Given the description of an element on the screen output the (x, y) to click on. 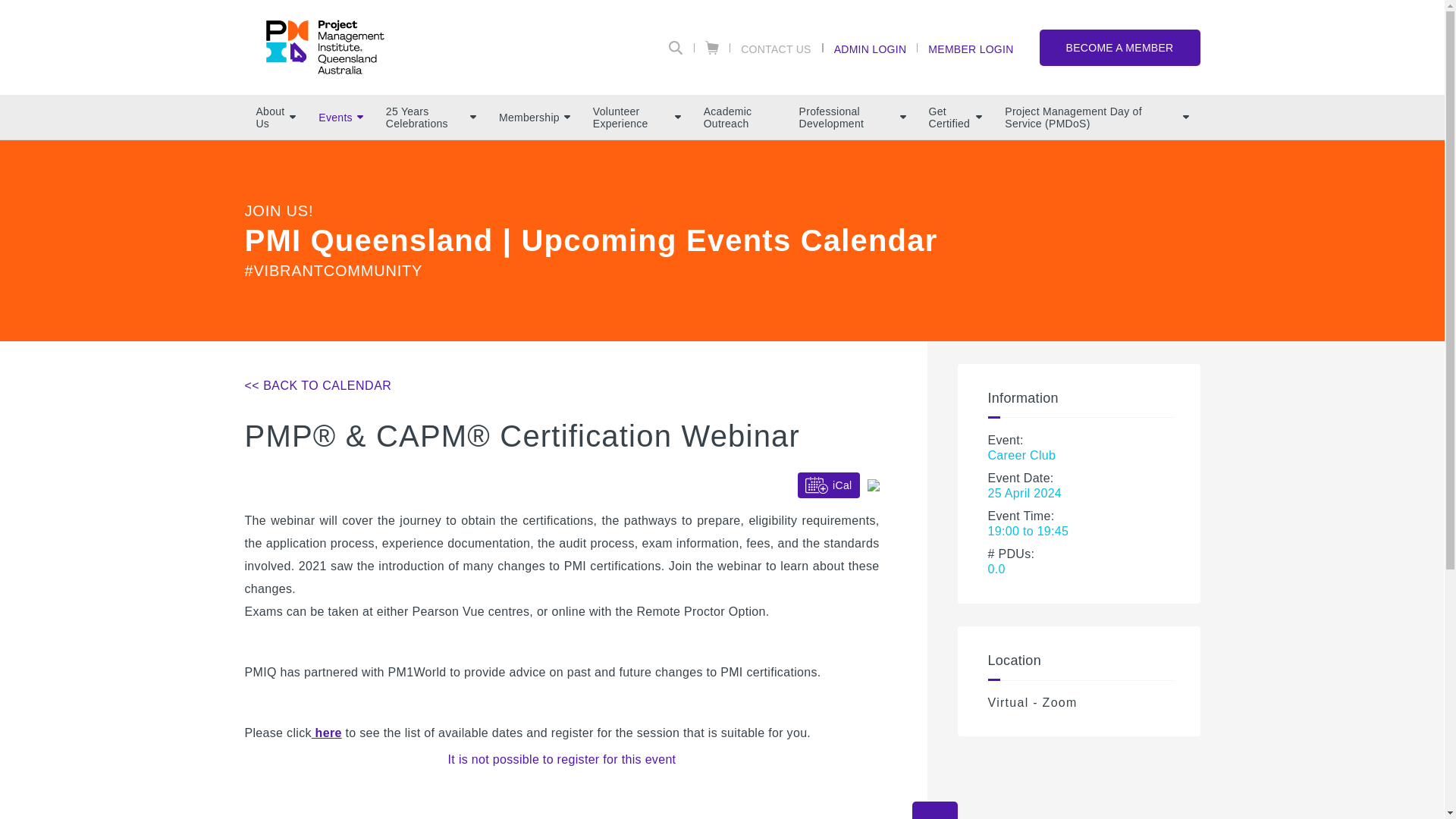
BECOME A MEMBER (1119, 46)
MEMBER LOGIN (970, 47)
Academic Outreach (740, 117)
ADMIN LOGIN (870, 47)
Add to my calendar (873, 485)
CONTACT US (776, 47)
Events (340, 117)
Get Certified (955, 117)
Professional Development (852, 117)
Membership (533, 117)
